Given the description of an element on the screen output the (x, y) to click on. 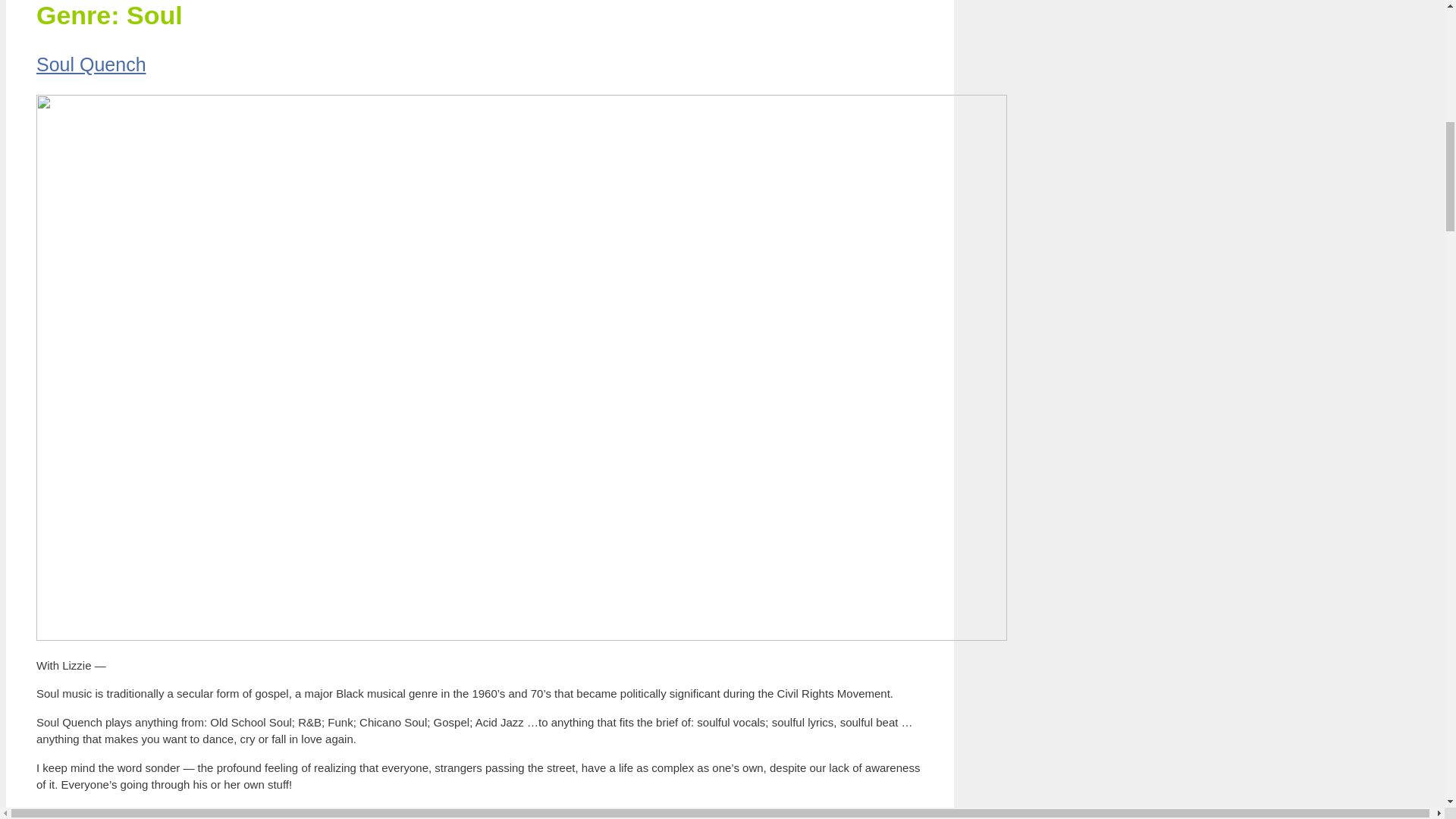
Soul Quench (91, 64)
